Given the description of an element on the screen output the (x, y) to click on. 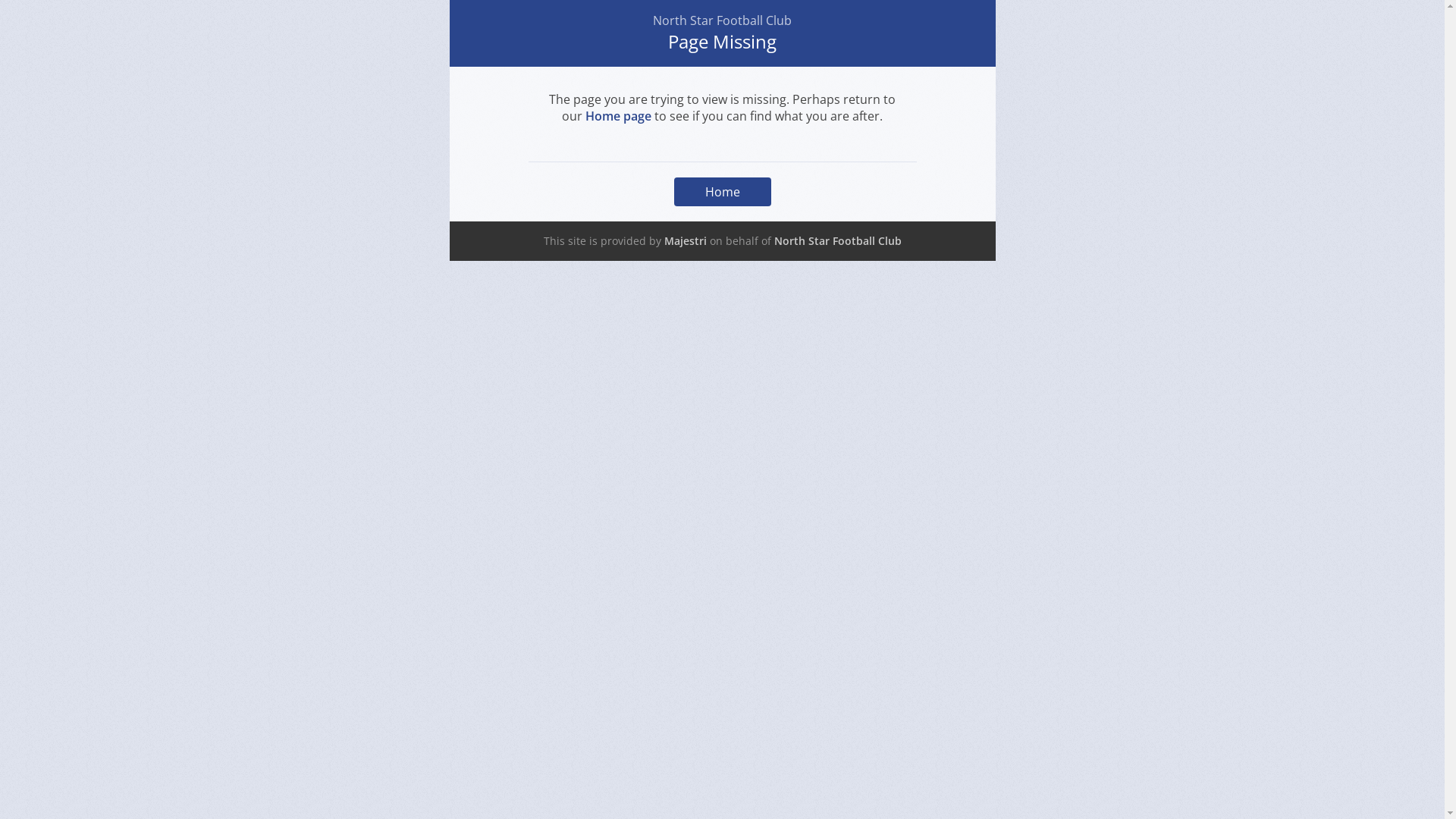
Home Element type: text (721, 191)
Majestri Element type: text (685, 240)
North Star Football Club Element type: text (836, 240)
Home page Element type: text (618, 115)
